Given the description of an element on the screen output the (x, y) to click on. 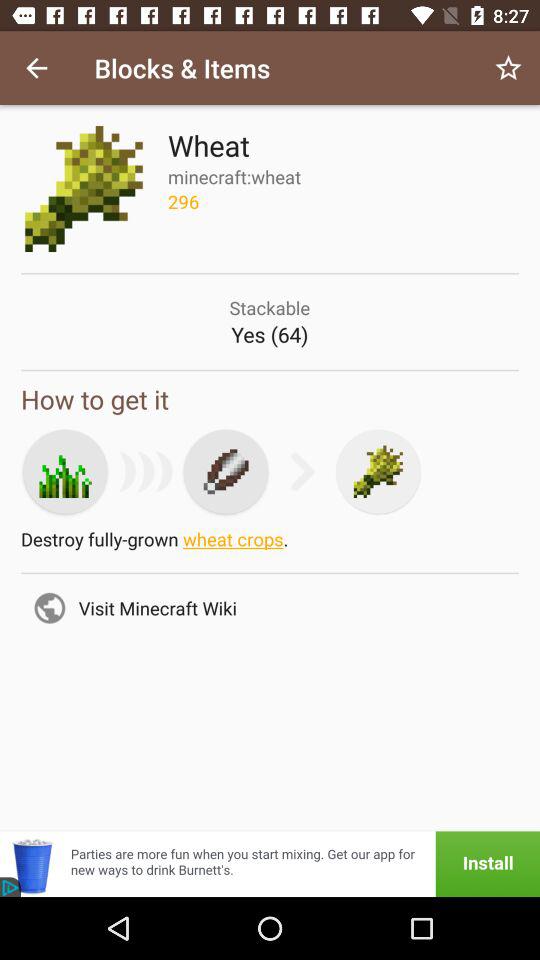
install advertised application (270, 864)
